Given the description of an element on the screen output the (x, y) to click on. 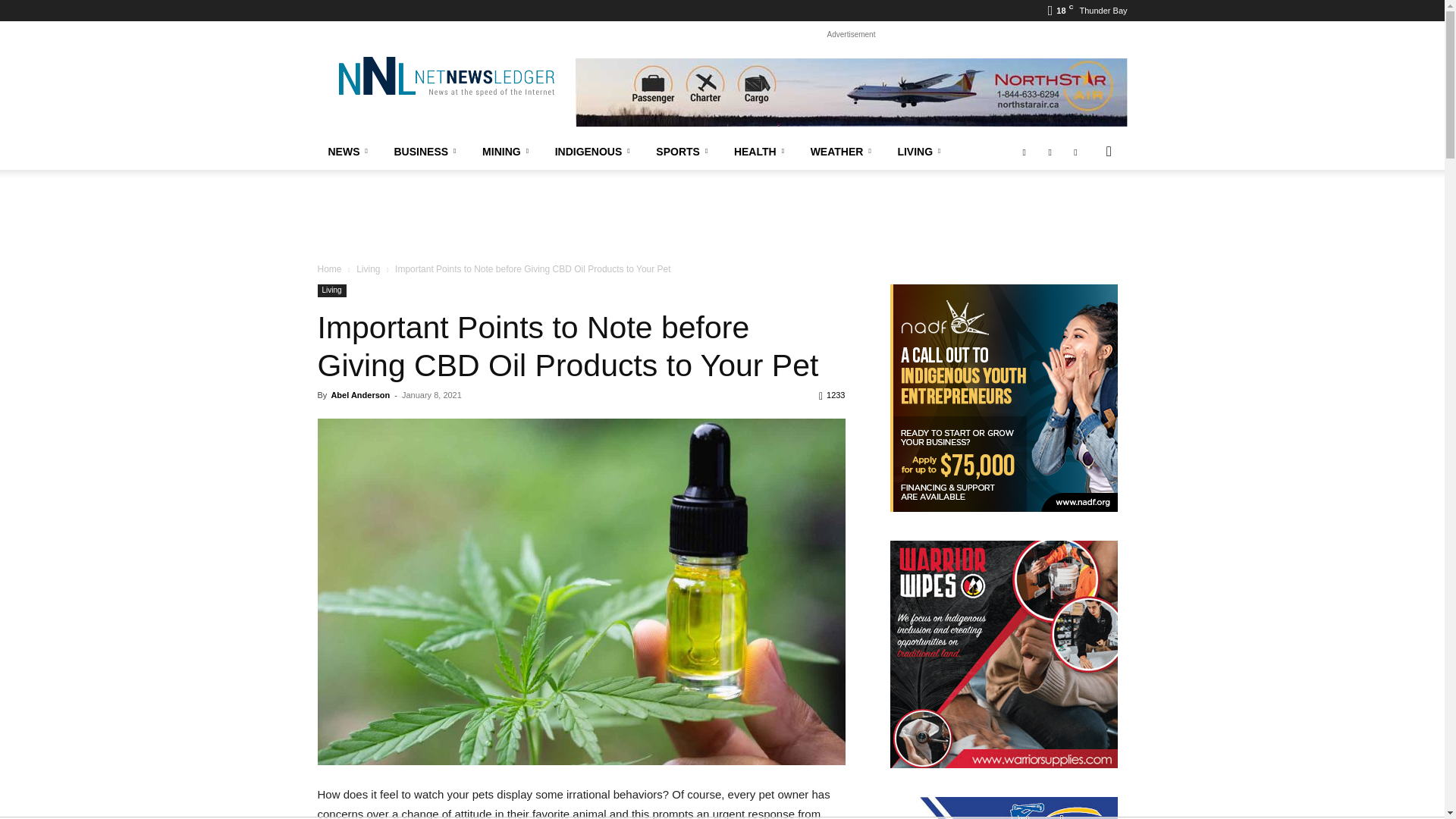
View all posts in Living (368, 268)
NetNewsLedger (445, 76)
North Star Air (850, 92)
